Given the description of an element on the screen output the (x, y) to click on. 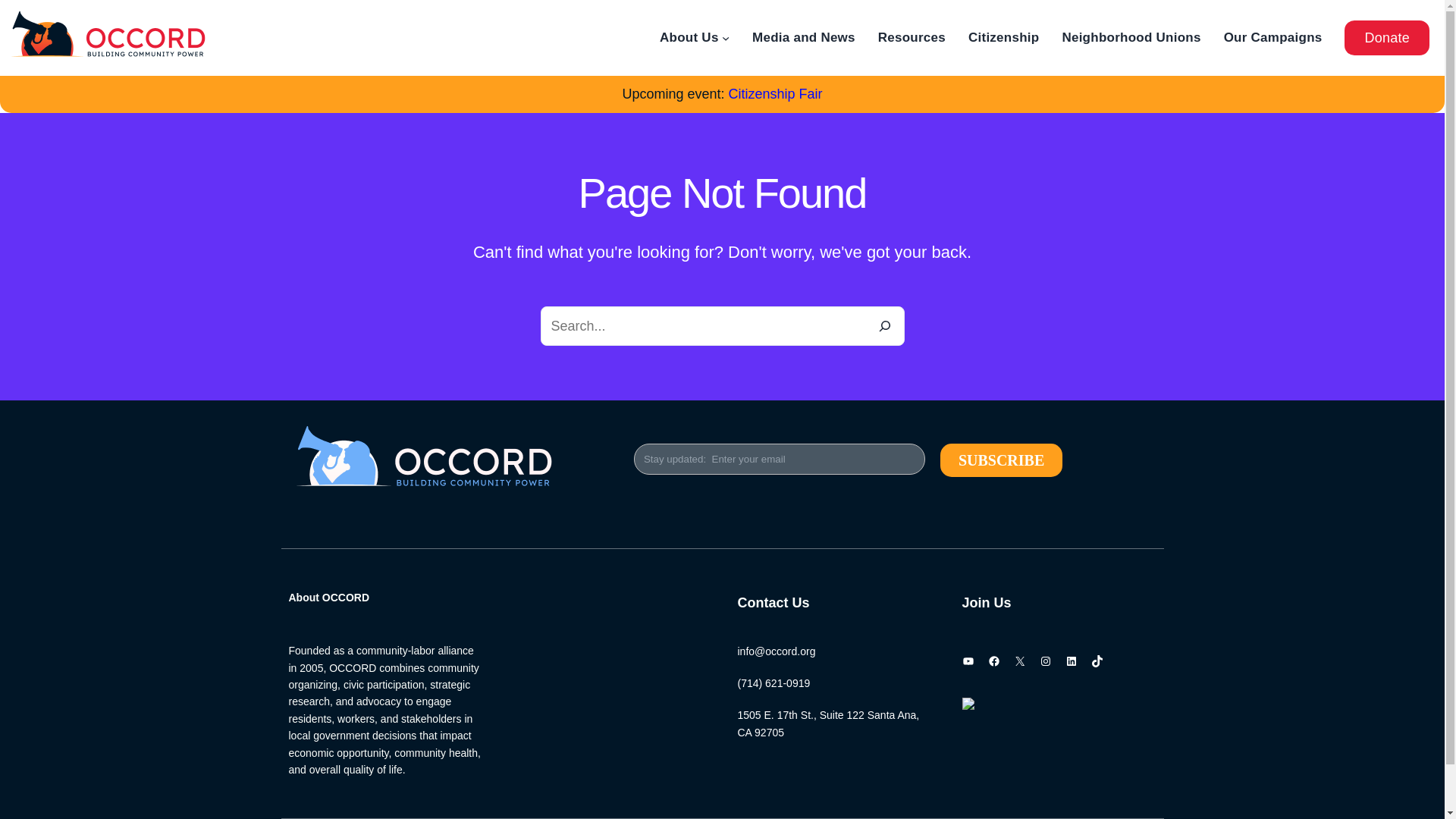
SUBSCRIBE (1001, 459)
Citizenship (1003, 37)
Instagram (1045, 661)
X (1019, 661)
LinkedIn (1070, 661)
Our Campaigns (1273, 37)
Resources (910, 37)
TikTok (1096, 661)
About Us (689, 37)
Donate (1386, 37)
Media and News (804, 37)
1505 E. 17th St., Suite 122 Santa Ana, CA 92705 (827, 723)
YouTube (967, 661)
Facebook (992, 661)
Citizenship Fair (775, 93)
